Given the description of an element on the screen output the (x, y) to click on. 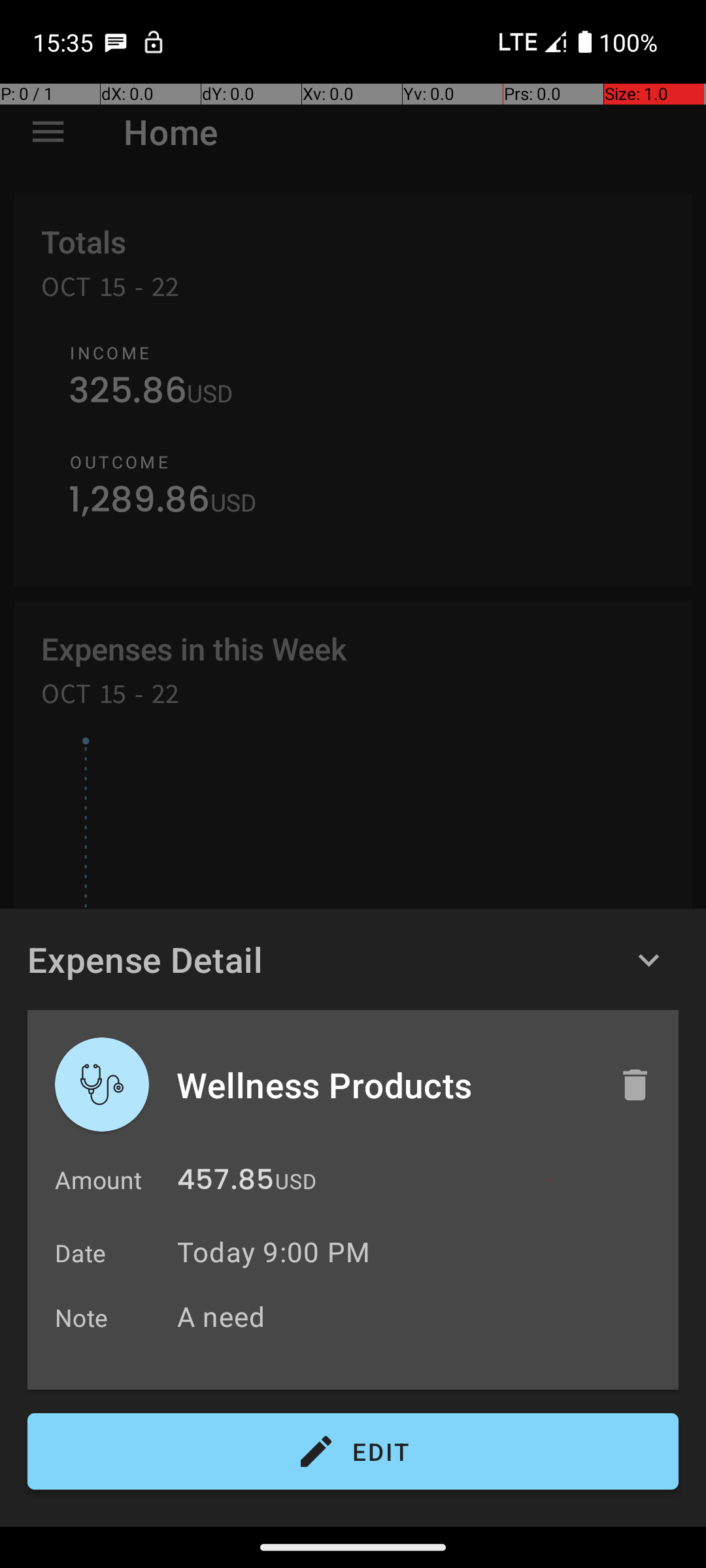
Wellness Products Element type: android.widget.TextView (383, 1084)
457.85 Element type: android.widget.TextView (225, 1182)
Today 9:00 PM Element type: android.widget.TextView (273, 1251)
